Given the description of an element on the screen output the (x, y) to click on. 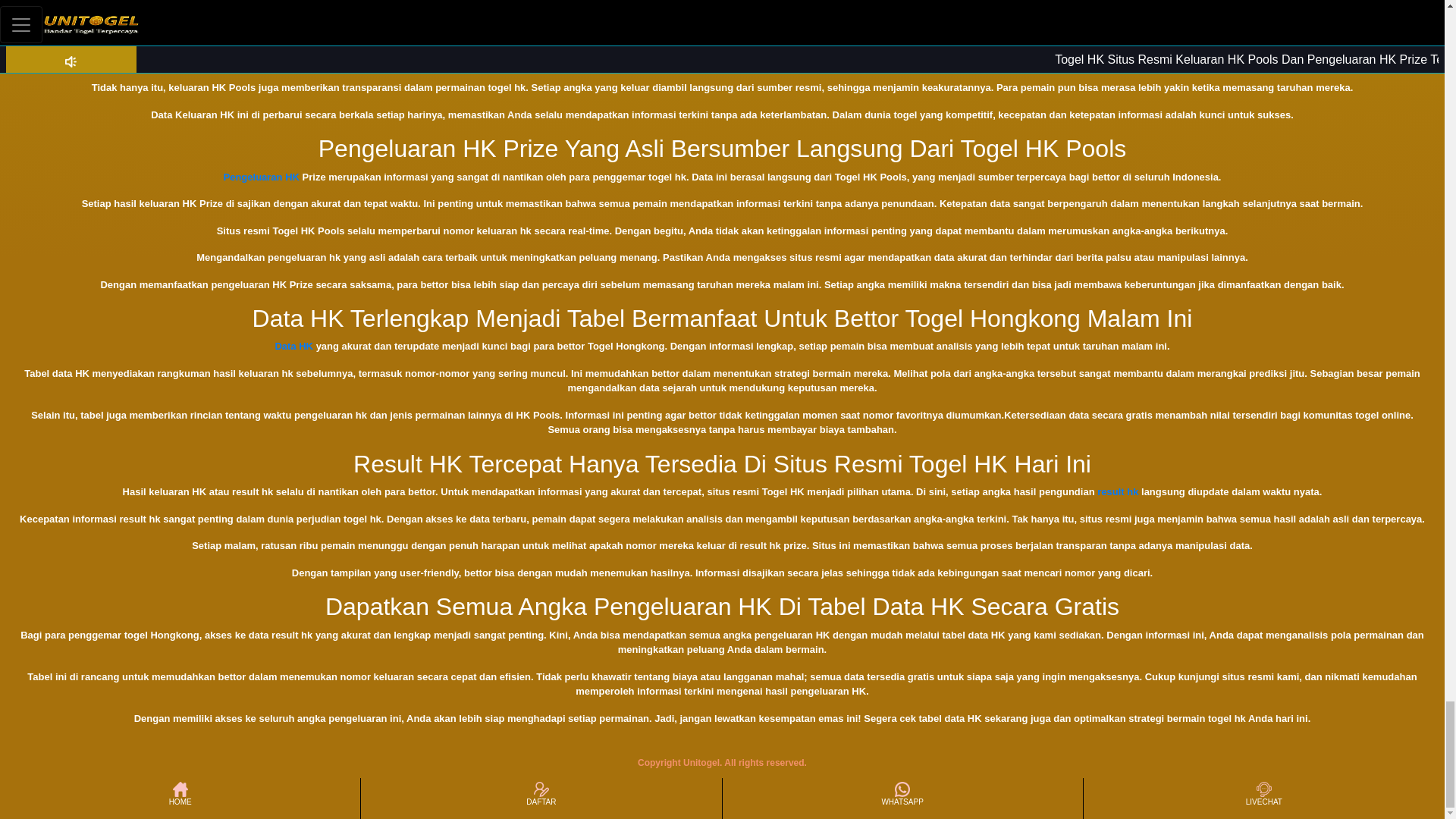
Keluaran HK (242, 33)
Data HK (294, 346)
Pengeluaran HK (261, 176)
result hk (1117, 491)
